Given the description of an element on the screen output the (x, y) to click on. 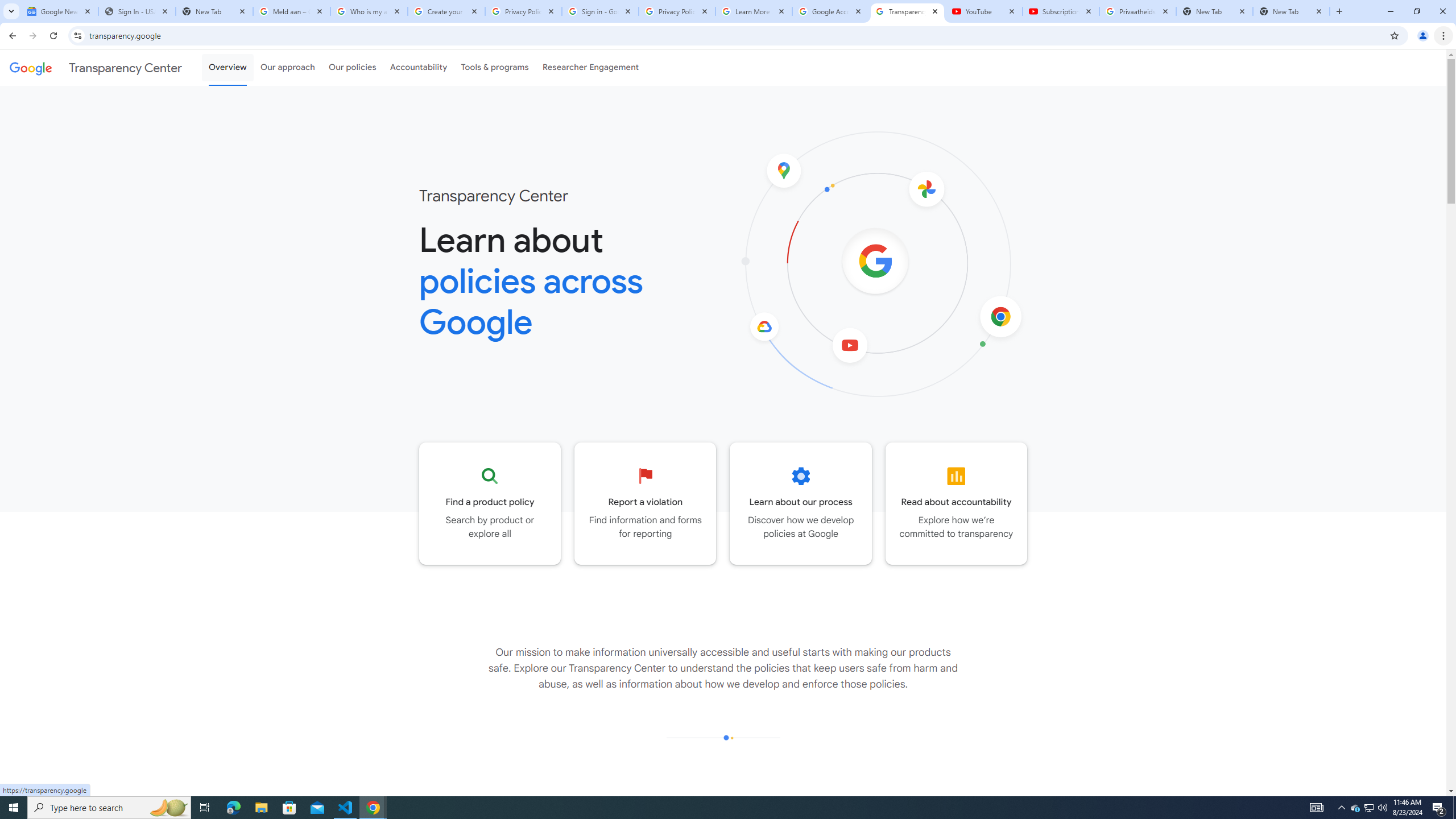
Sign In - USA TODAY (136, 11)
Sign in - Google Accounts (599, 11)
Google News (59, 11)
Transparency Center (95, 67)
Go to the Product policy page (490, 503)
